Given the description of an element on the screen output the (x, y) to click on. 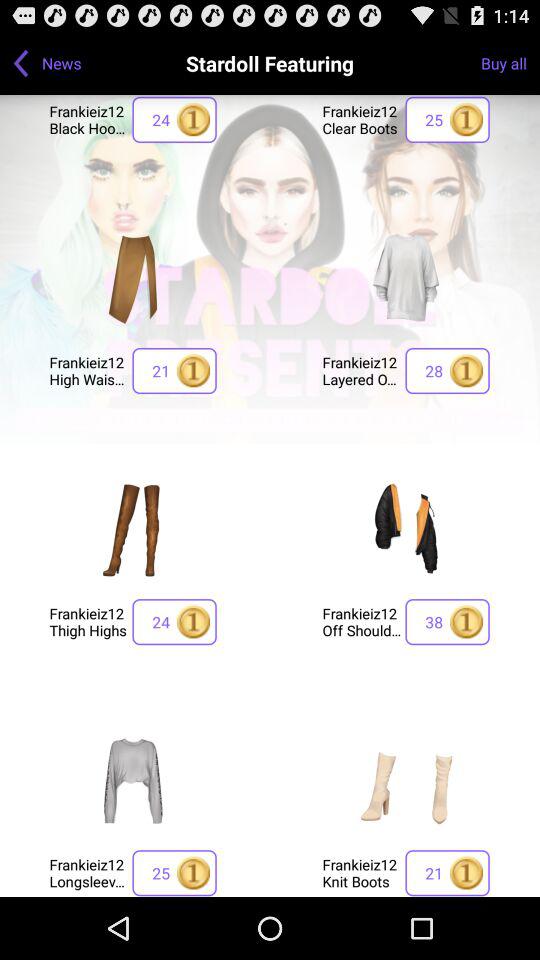
choose the frankieiz12 longsleeve with icon (88, 872)
